Given the description of an element on the screen output the (x, y) to click on. 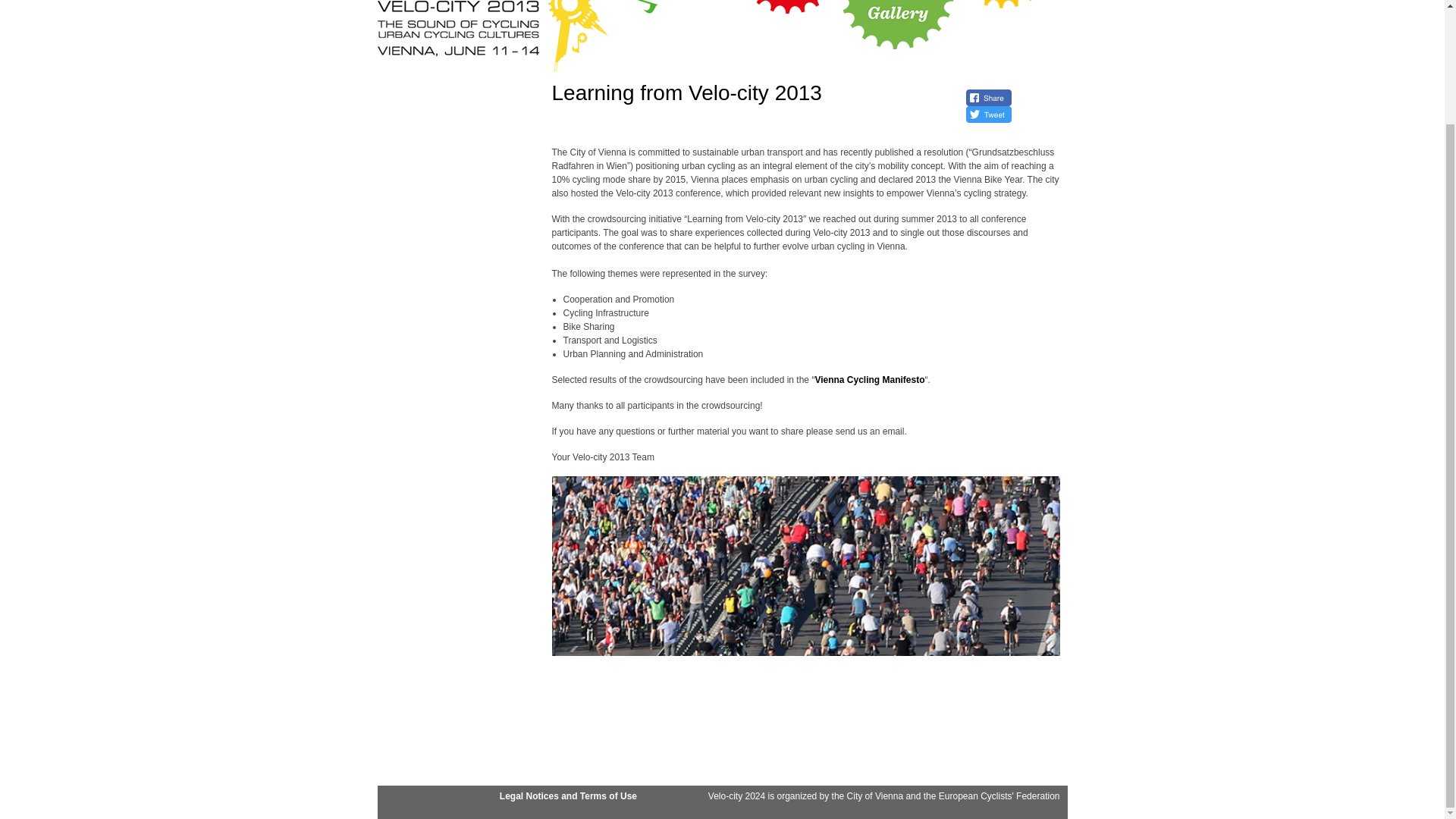
Vienna Cycling Manifesto (868, 379)
Legal Notices and Terms of Use (568, 796)
The Vienna Cycling Manifesto (868, 379)
